Given the description of an element on the screen output the (x, y) to click on. 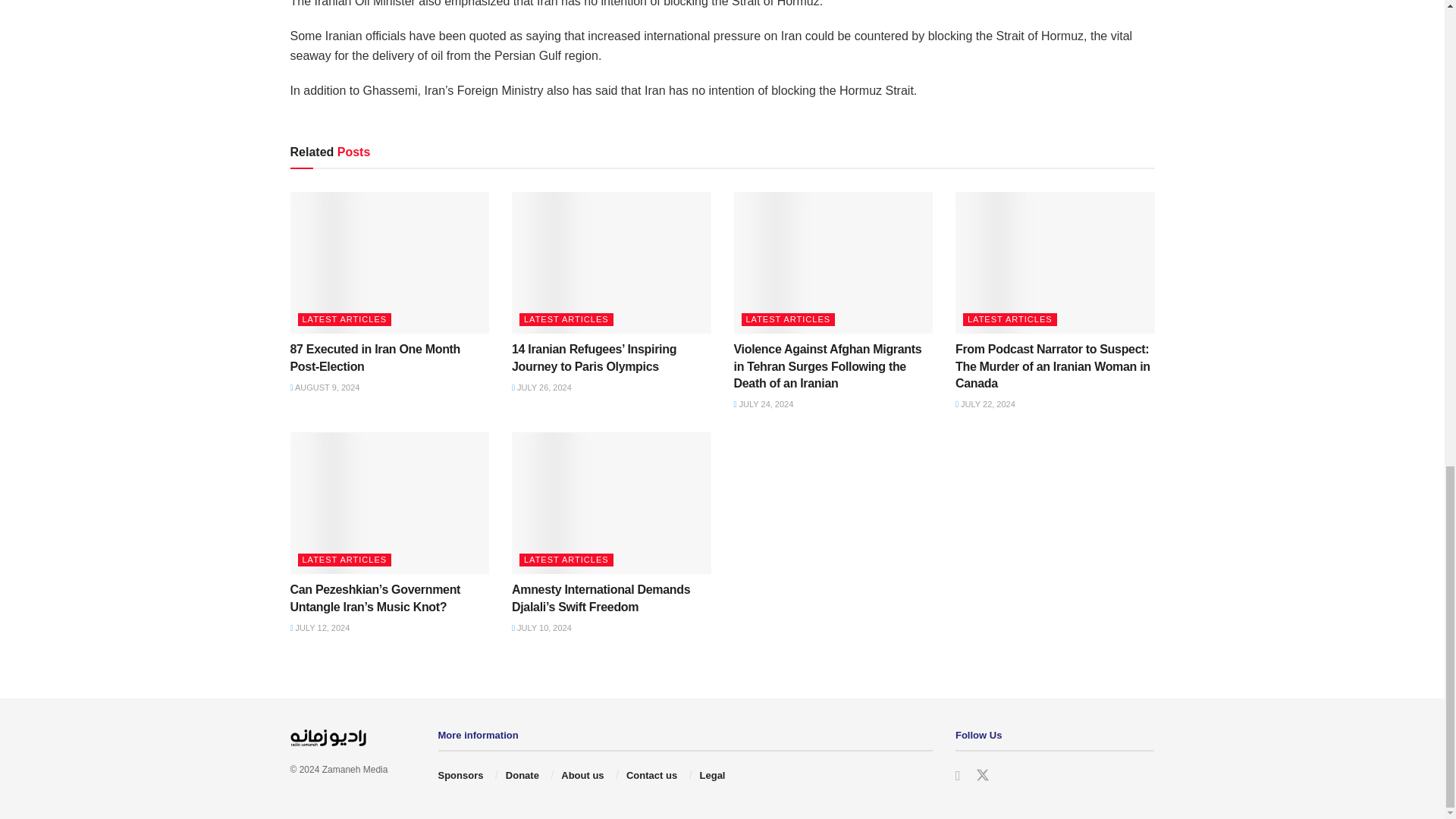
LATEST ARTICLES (344, 318)
87 Executed in Iran One Month Post-Election (374, 357)
AUGUST 9, 2024 (324, 387)
